Given the description of an element on the screen output the (x, y) to click on. 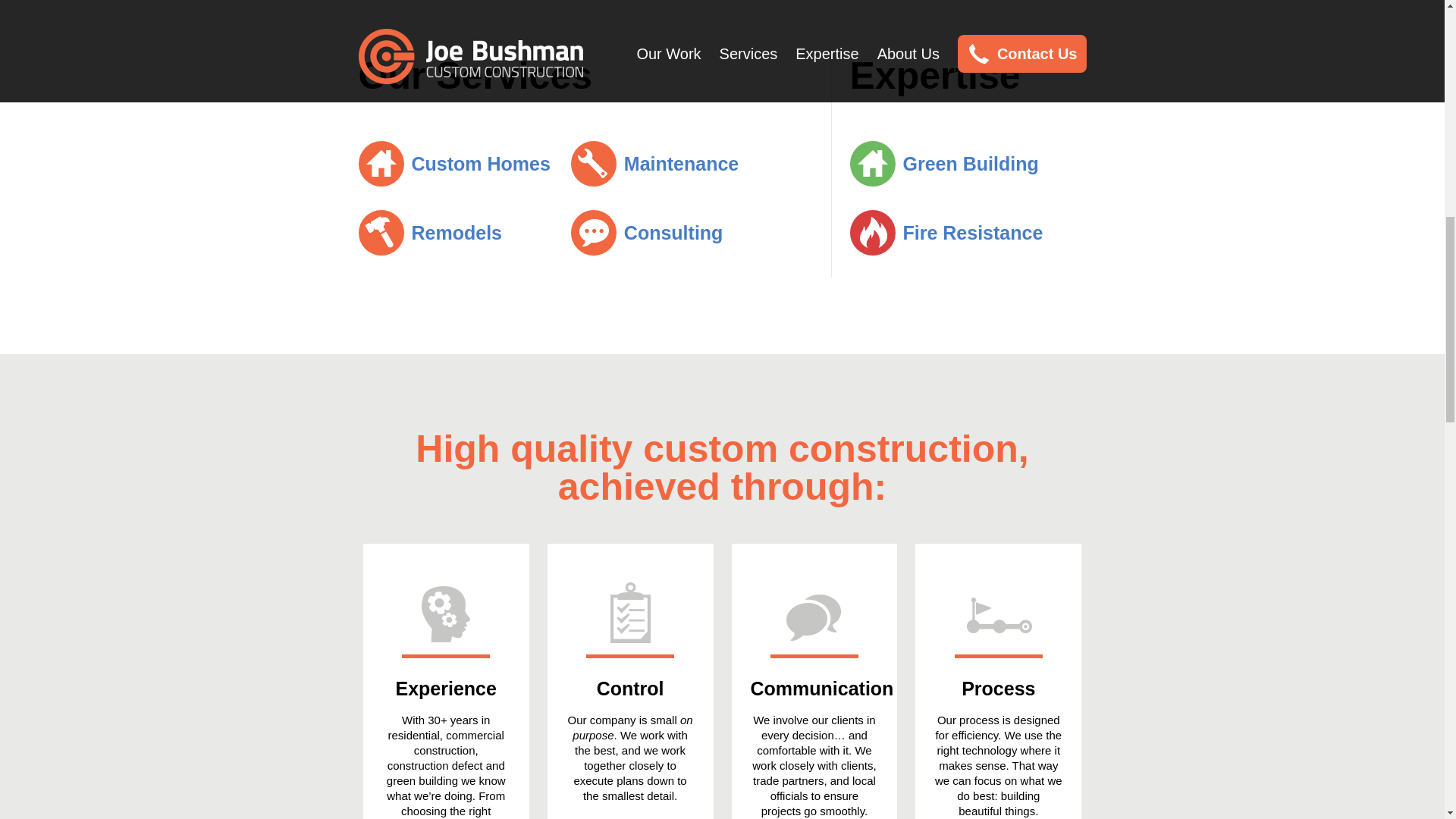
Custom Homes (454, 162)
Fire Resistance (945, 231)
Maintenance (654, 162)
Remodels (429, 231)
Consulting (646, 231)
Green Building (943, 162)
